Given the description of an element on the screen output the (x, y) to click on. 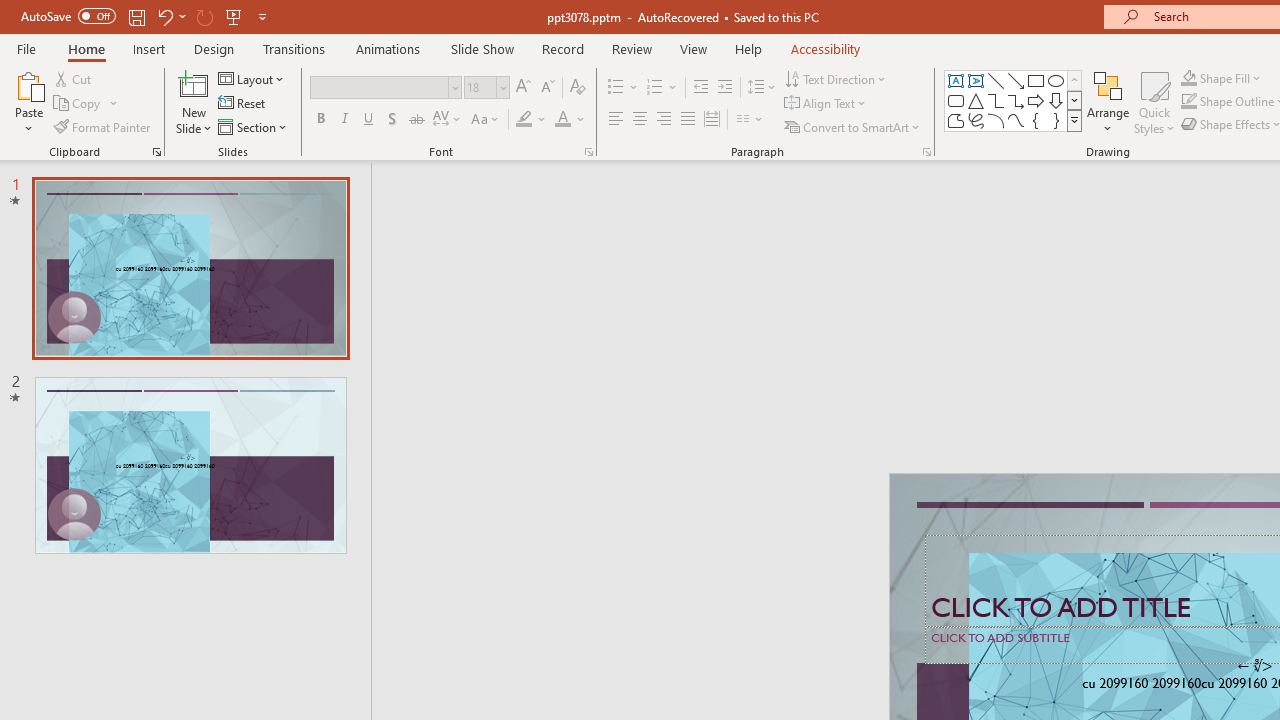
TextBox 7 (1254, 666)
